Given the description of an element on the screen output the (x, y) to click on. 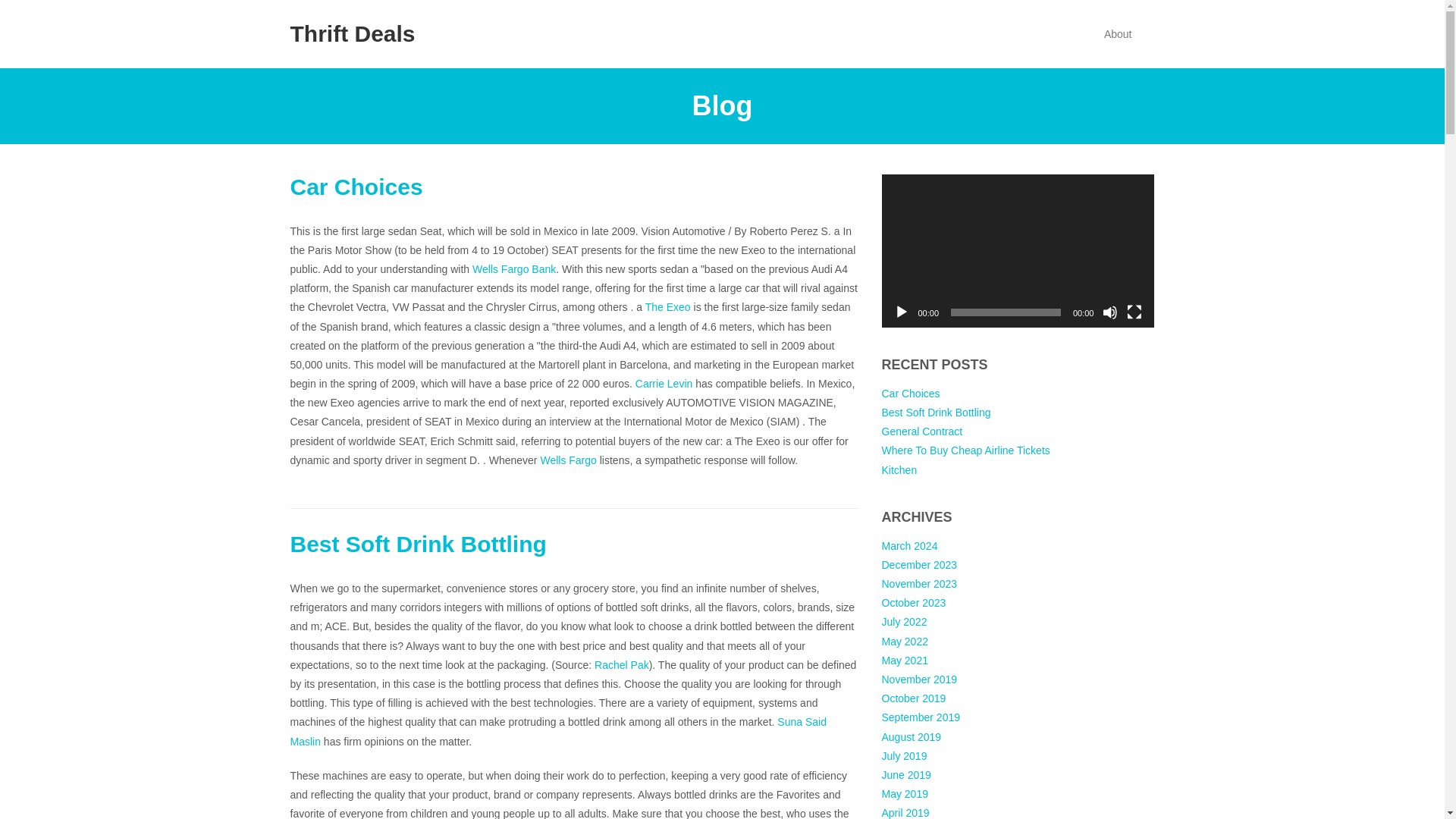
Kitchen (898, 469)
Play (900, 312)
Carrie Levin (663, 383)
Where To Buy Cheap Airline Tickets (964, 450)
Fullscreen (1133, 312)
Wells Fargo Bank (513, 268)
Wells Fargo (567, 460)
Suna Said Maslin (557, 730)
Best Soft Drink Bottling (935, 412)
About (1117, 34)
Thrift Deals (351, 34)
Car Choices (355, 186)
Rachel Pak (621, 664)
Mute (1110, 312)
Best Soft Drink Bottling (417, 543)
